Given the description of an element on the screen output the (x, y) to click on. 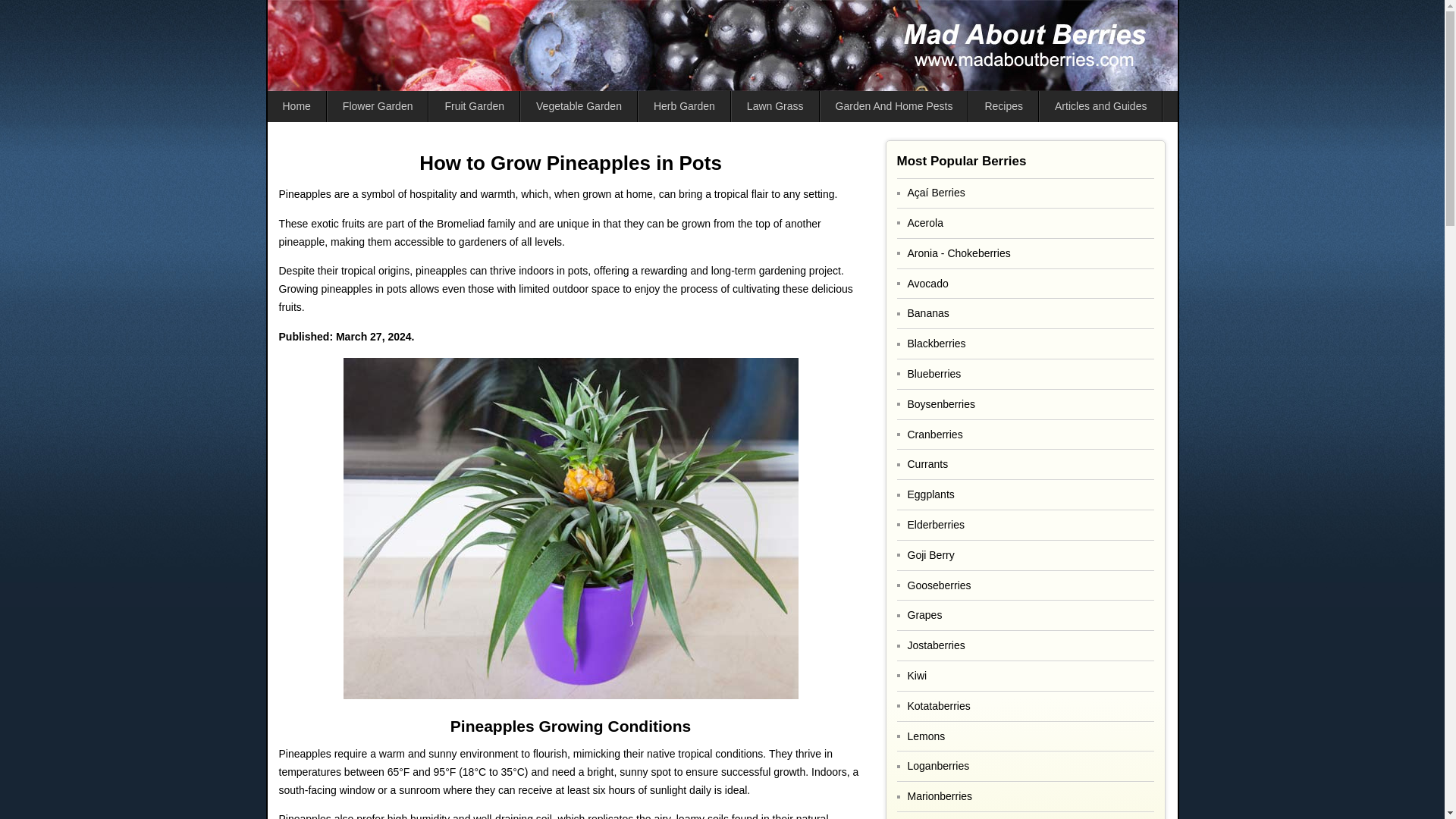
Acerola (1025, 223)
Vegetable Garden (579, 106)
Lawn Grass (775, 106)
Home (296, 106)
Goji Berry (1025, 555)
Blueberries (1025, 374)
Eggplants (1025, 494)
Elderberries (1025, 524)
Aronia - Chokeberries (1025, 253)
Jostaberries (1025, 645)
Currants (1025, 464)
Articles and Guides (1100, 106)
Fruit Garden (474, 106)
Avocado (1025, 283)
Grapes (1025, 614)
